Given the description of an element on the screen output the (x, y) to click on. 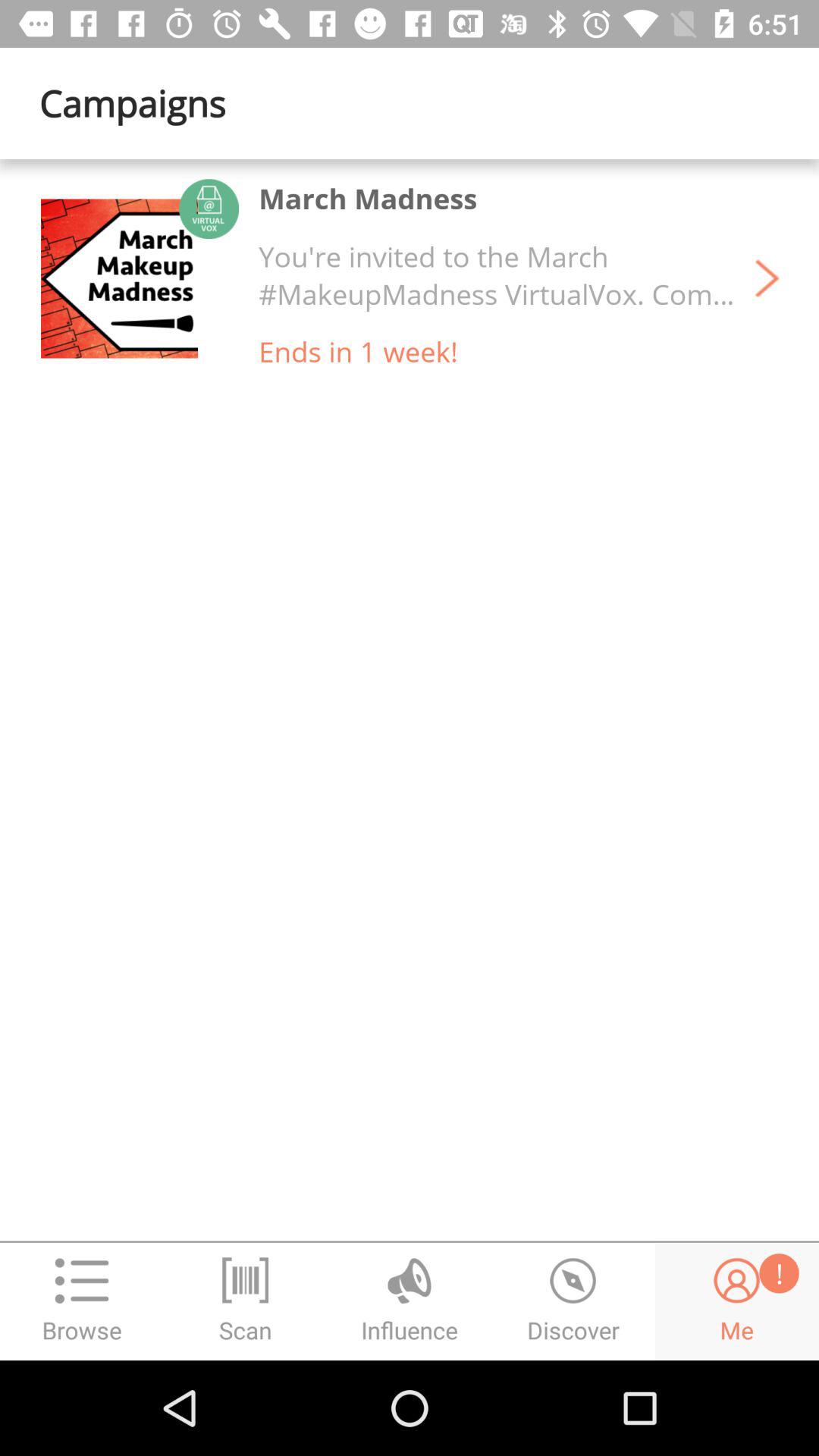
choose the icon below the campaigns item (138, 278)
